Given the description of an element on the screen output the (x, y) to click on. 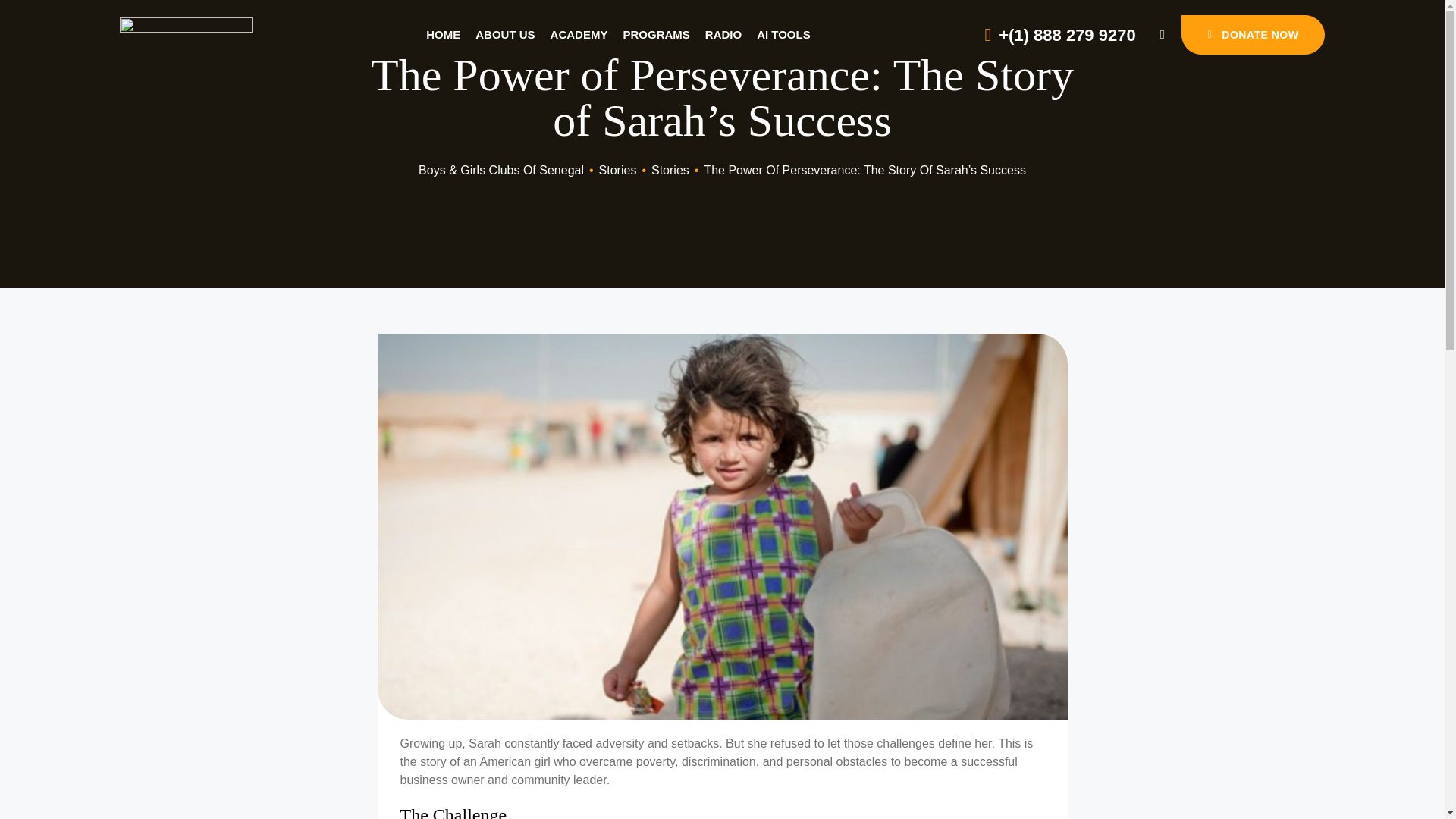
RADIO (722, 34)
AI TOOLS (783, 34)
ACADEMY (579, 34)
DONATE NOW (1252, 34)
PROGRAMS (655, 34)
Stories (669, 169)
Stories (617, 169)
ABOUT US (505, 34)
Go to the Stories Category archives. (669, 169)
Go to Stories. (617, 169)
